Given the description of an element on the screen output the (x, y) to click on. 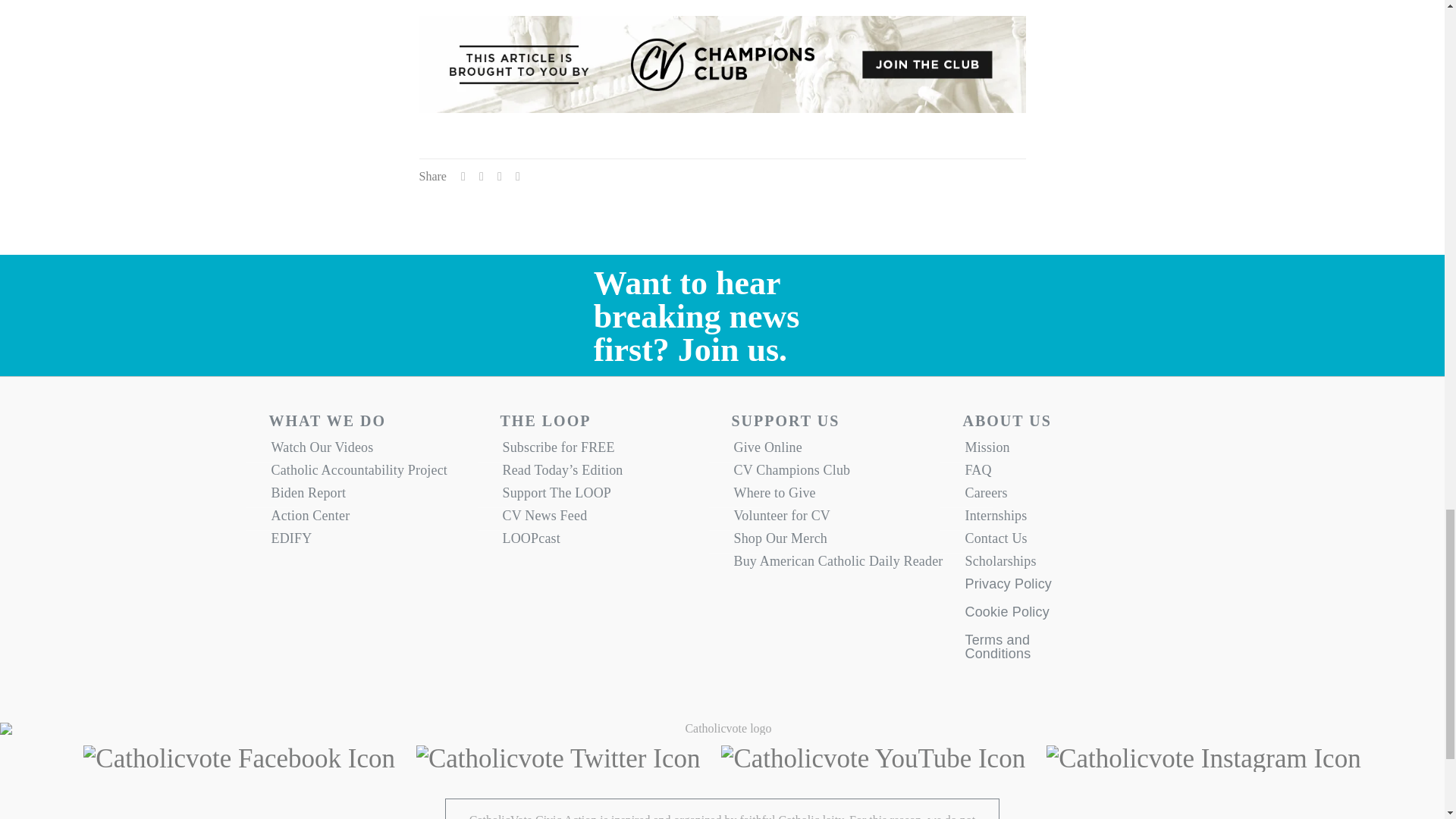
CV Champions Club (836, 473)
EDIFY (374, 541)
Facebook (238, 758)
Twitter (558, 758)
LOOPcast (606, 541)
YouTube (872, 758)
CV News Feed (606, 518)
Action Center (374, 518)
Privacy Policy  (1007, 590)
Catholic Accountability Project (374, 473)
Support The LOOP (606, 496)
Biden Report (374, 496)
Subscribe for FREE (606, 450)
Give Online (836, 450)
Watch Our Videos (374, 450)
